Given the description of an element on the screen output the (x, y) to click on. 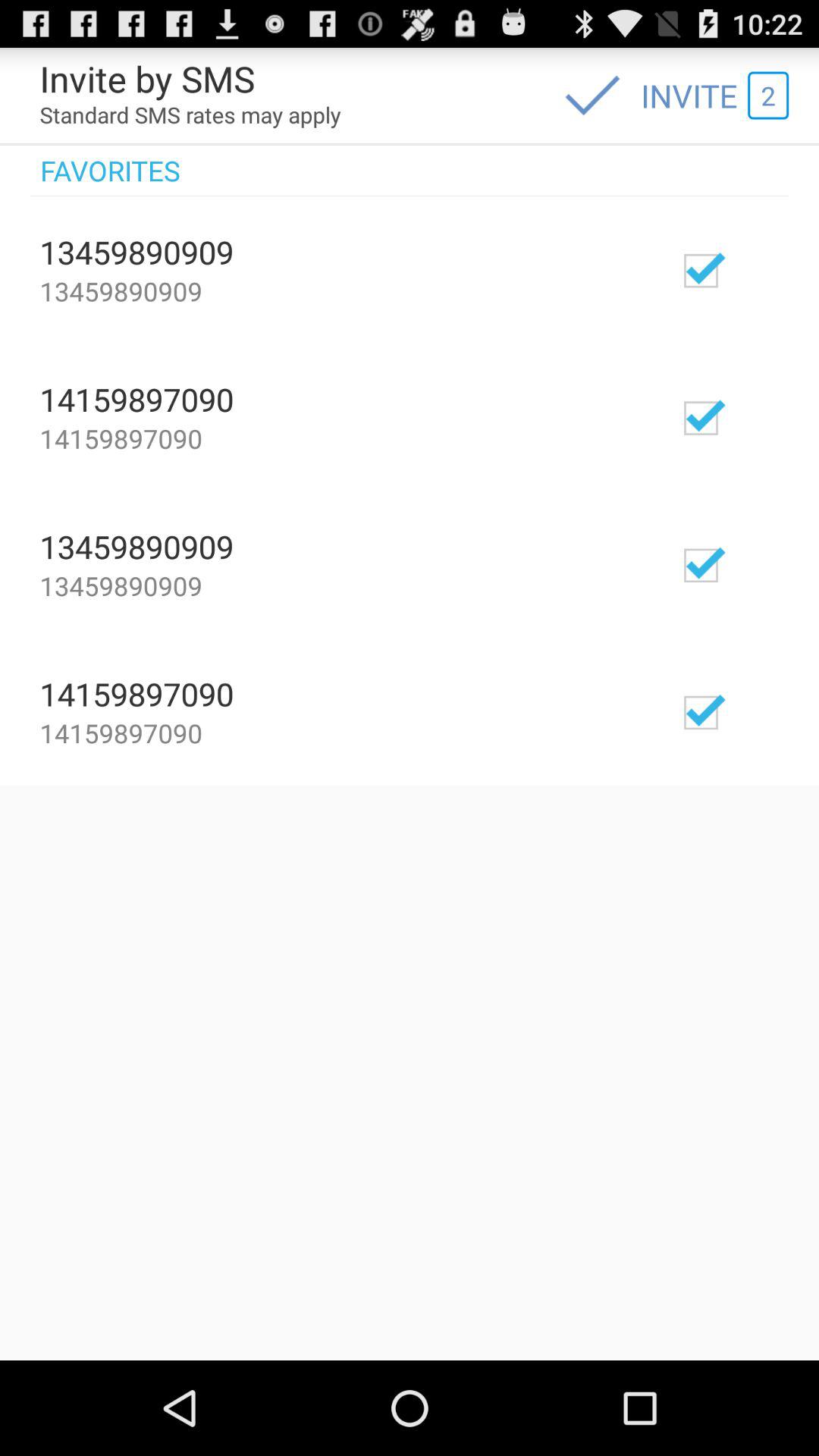
toggle 13459890909 (745, 269)
